Given the description of an element on the screen output the (x, y) to click on. 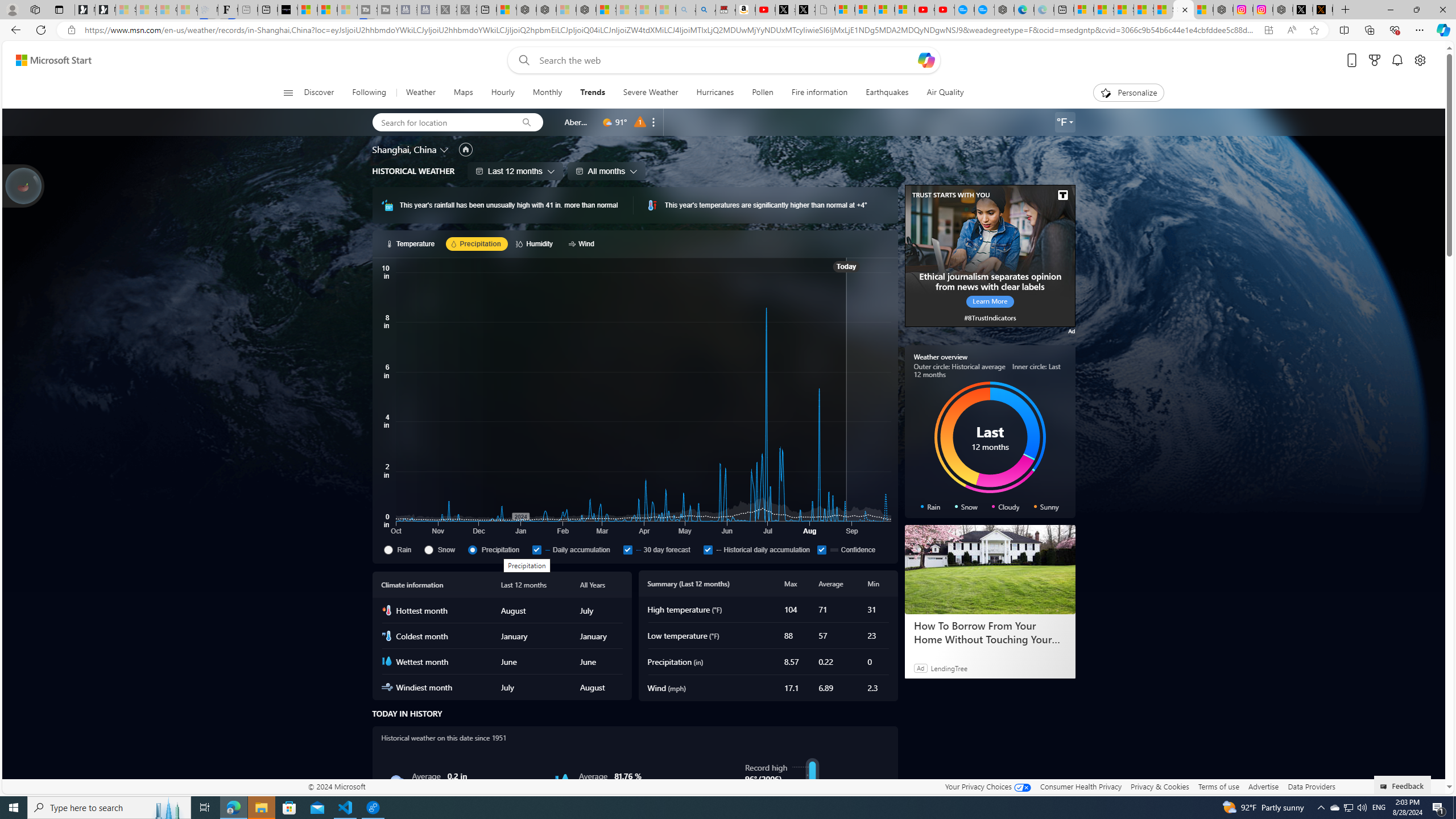
Privacy & Cookies (1160, 786)
Data Providers (1311, 785)
Hurricanes (715, 92)
30 day forecast (660, 549)
Your Privacy Choices (987, 786)
Weather settings (1064, 122)
Maps (462, 92)
Last 12 months (515, 170)
